Given the description of an element on the screen output the (x, y) to click on. 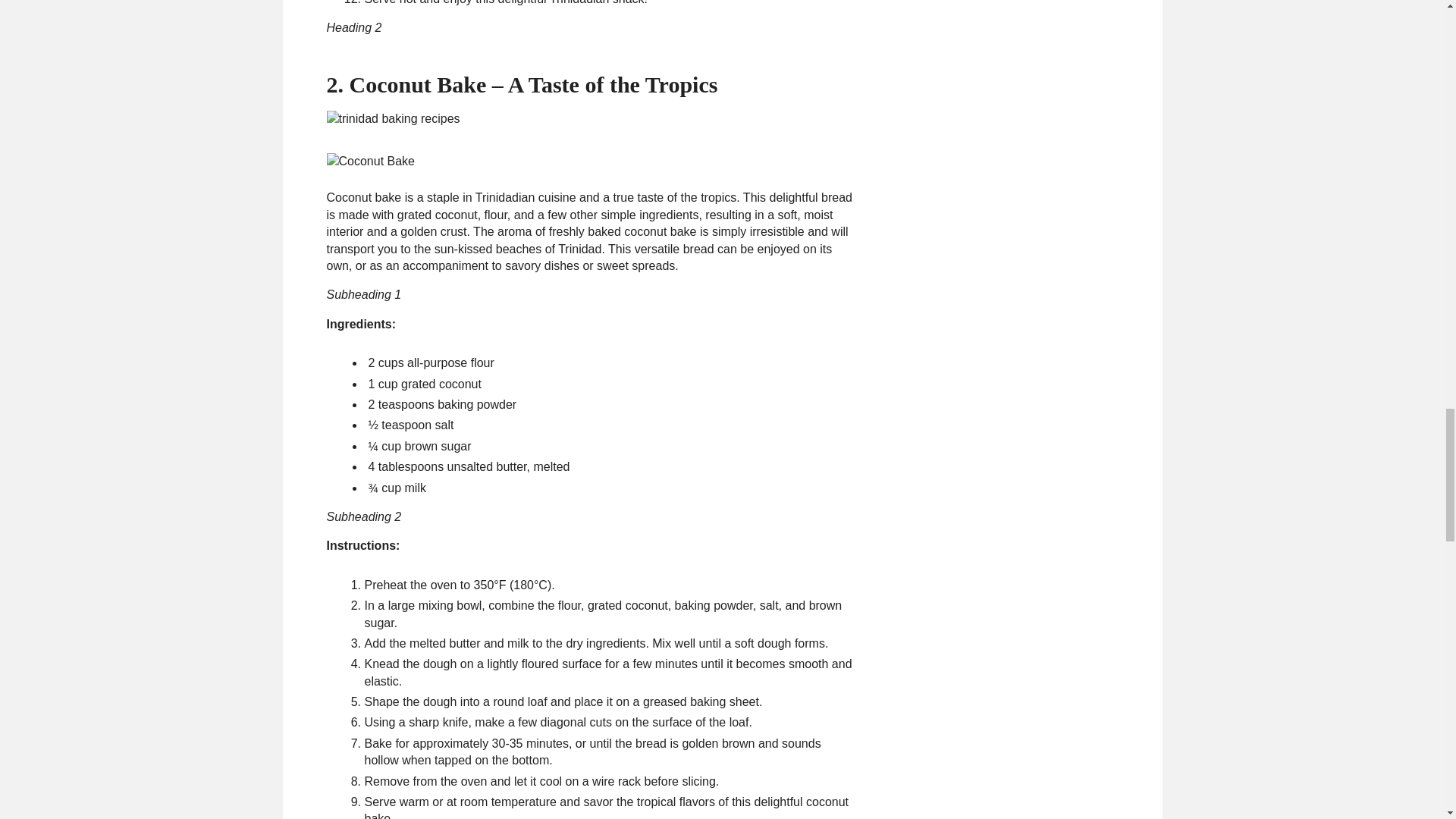
trinidad baking recipes (393, 118)
